Given the description of an element on the screen output the (x, y) to click on. 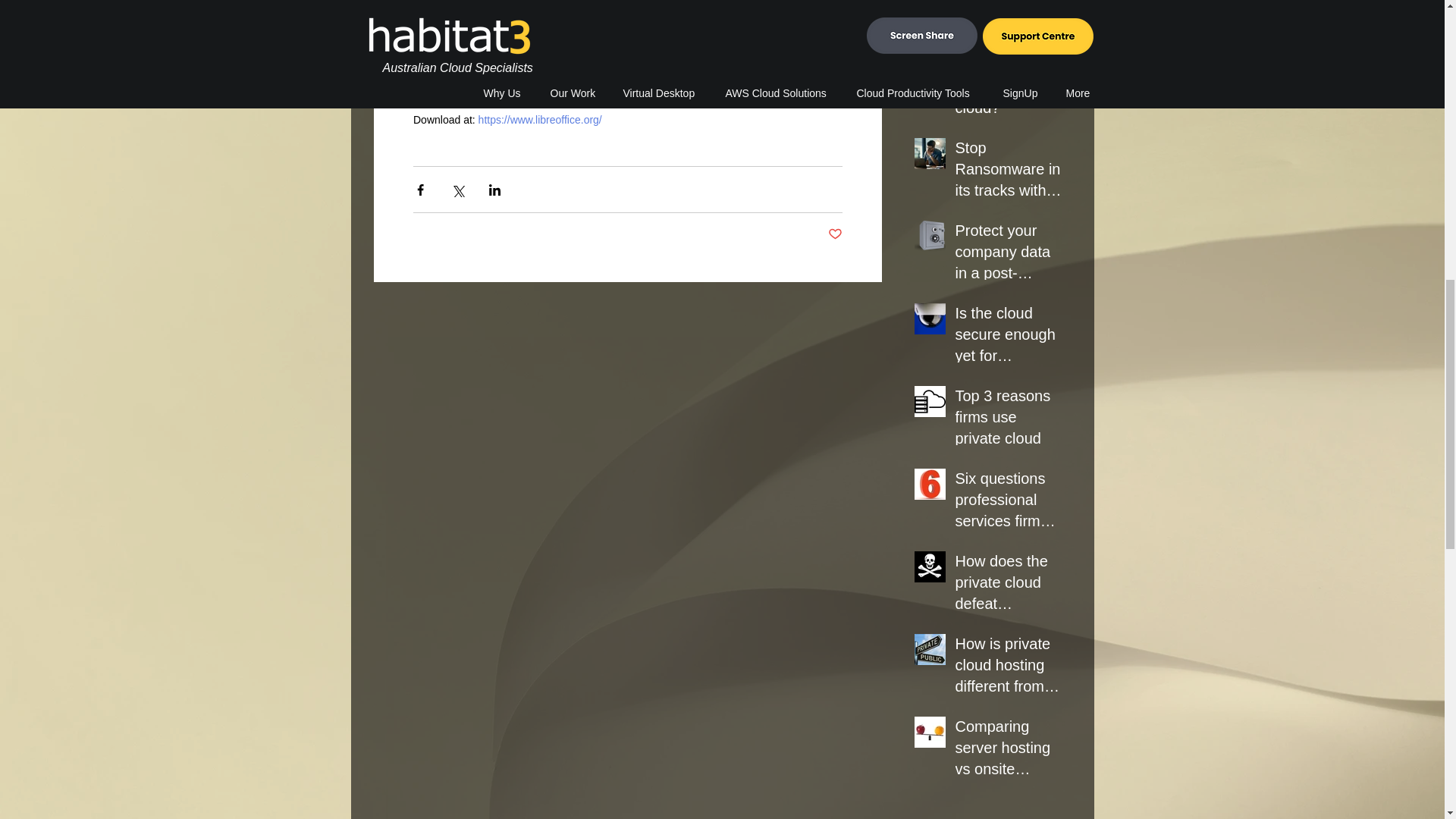
Post not marked as liked (835, 234)
